Given the description of an element on the screen output the (x, y) to click on. 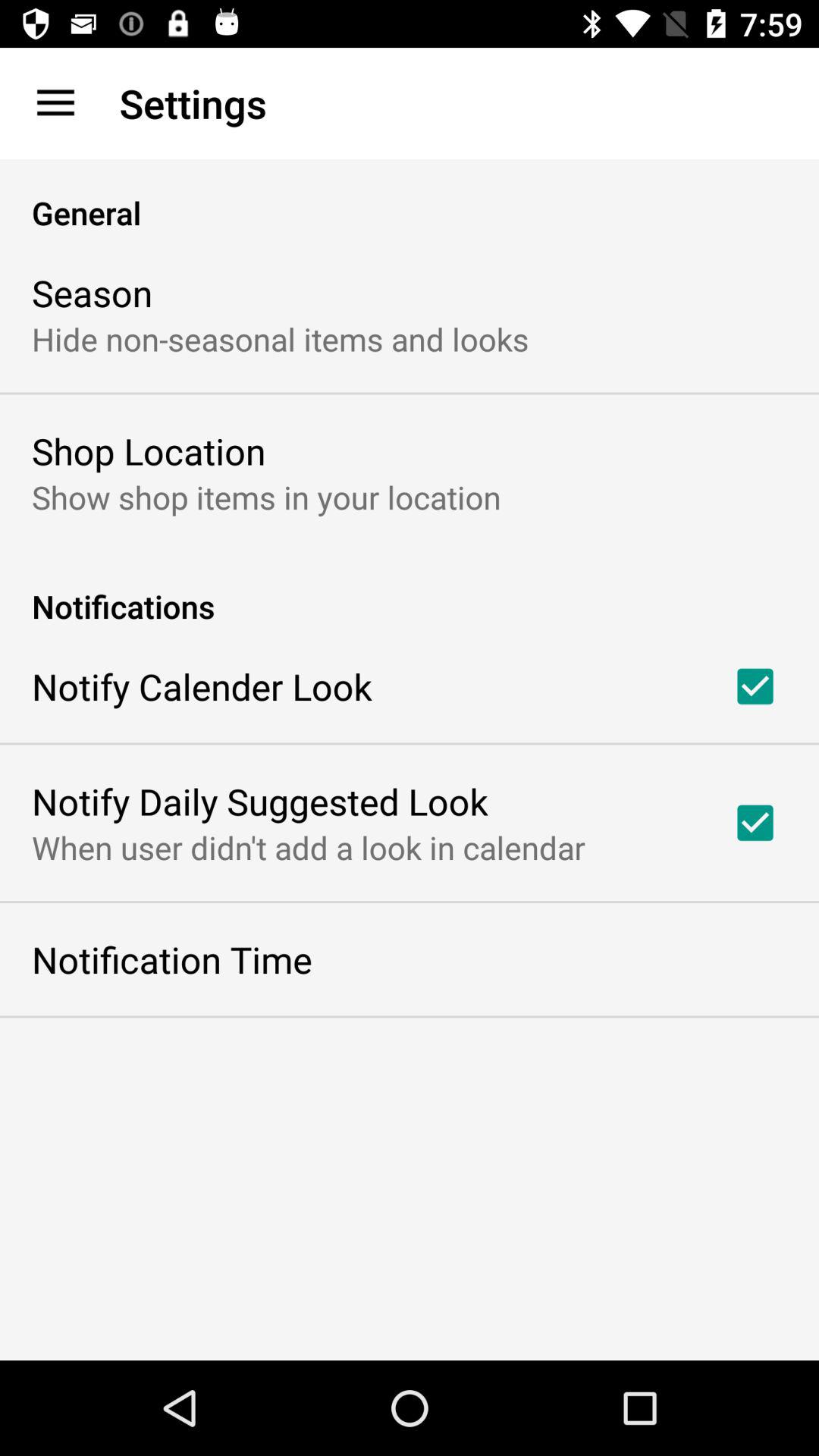
flip to the notifications item (409, 589)
